Given the description of an element on the screen output the (x, y) to click on. 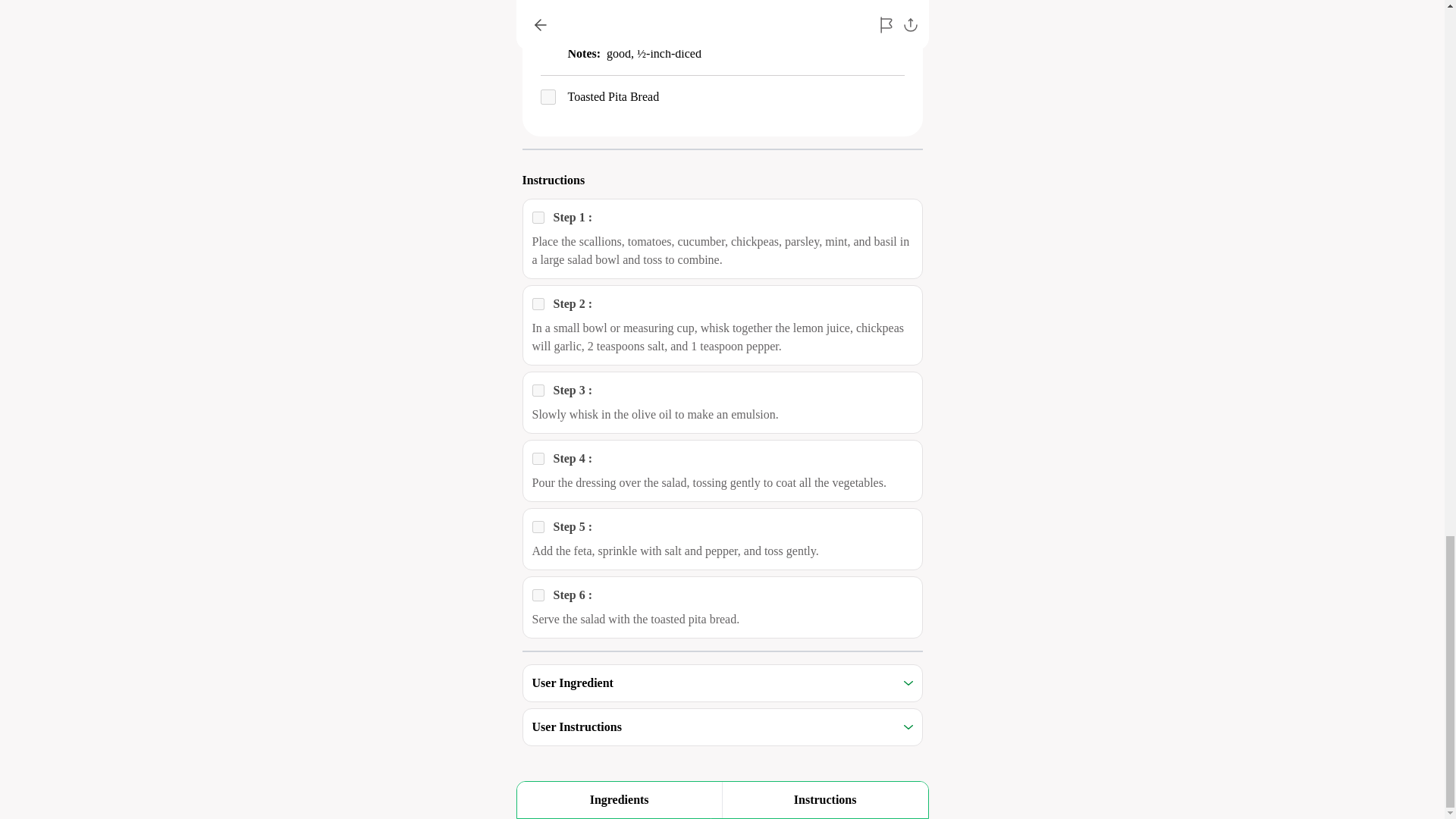
Paneer (538, 526)
Paneer (538, 594)
Paneer (538, 304)
Paneer (538, 390)
on (547, 41)
on (547, 96)
Paneer (538, 217)
Paneer (538, 458)
